Given the description of an element on the screen output the (x, y) to click on. 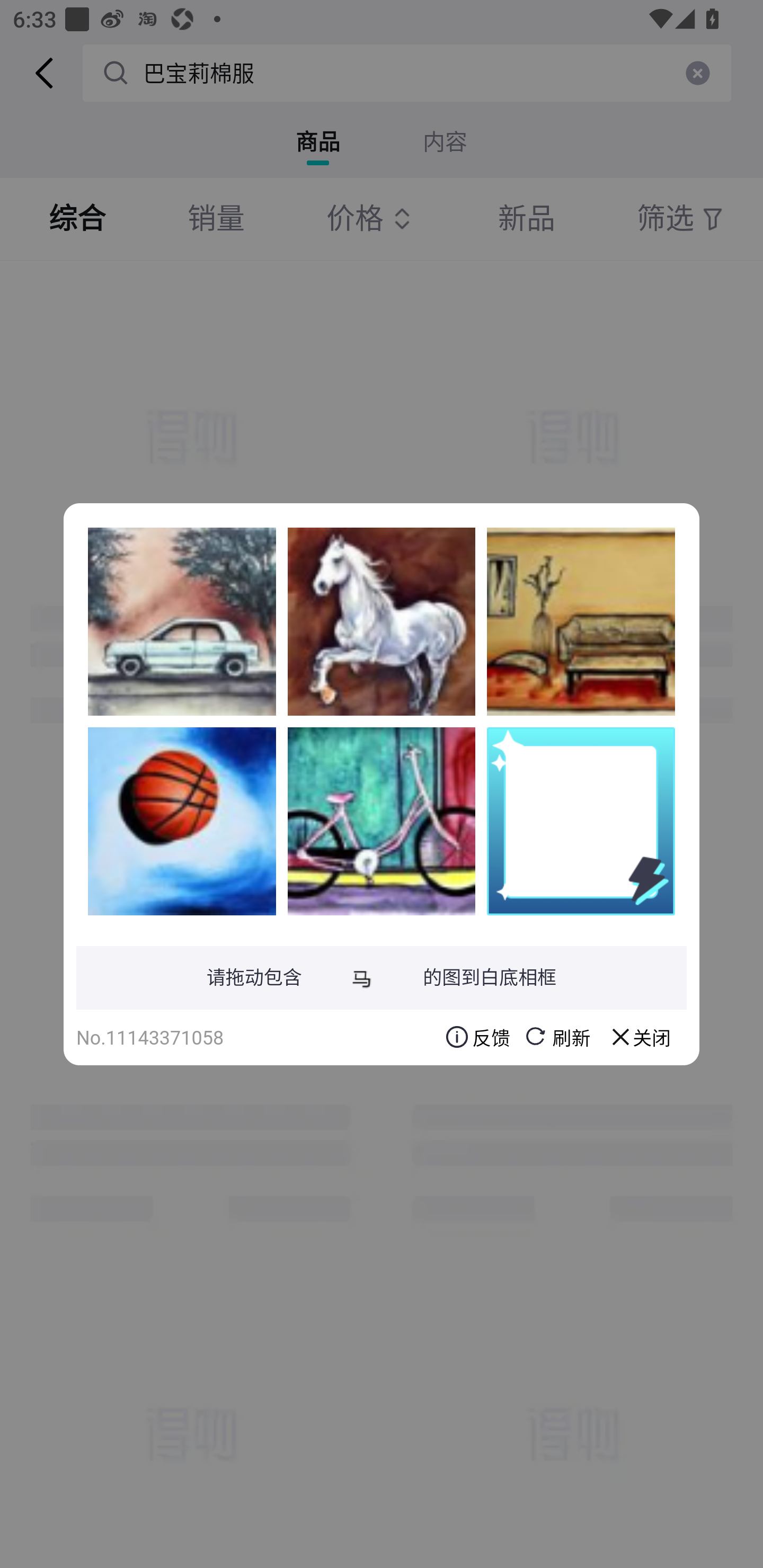
dDrWZ9qjPdkJTvhvaSjzRTrQUidFU4IZWjgOlYk (580, 621)
i6Fc9nJX4cv4PD (381, 820)
